Given the description of an element on the screen output the (x, y) to click on. 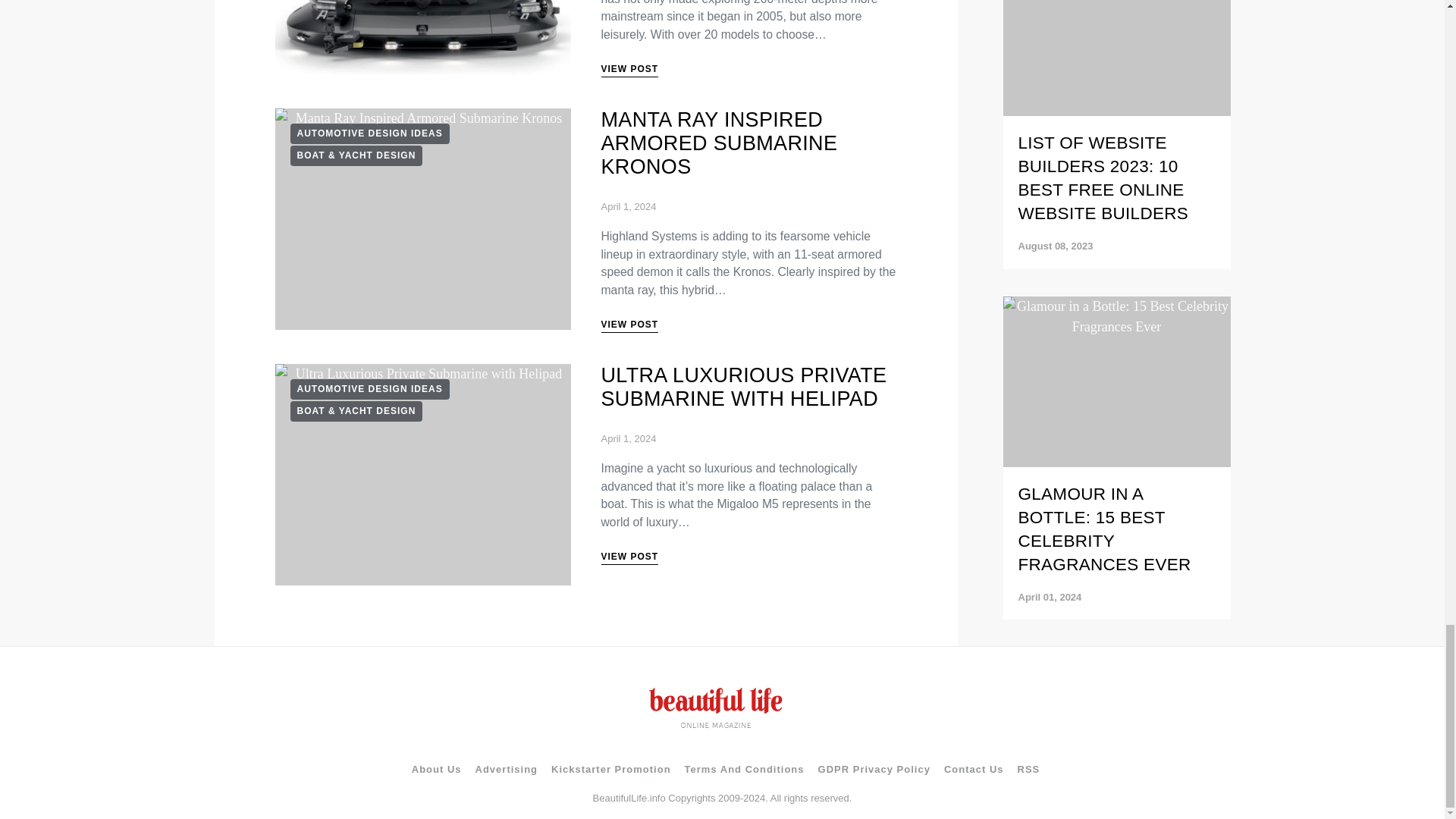
MANTA RAY INSPIRED ARMORED SUBMARINE KRONOS (718, 143)
AUTOMOTIVE DESIGN IDEAS (368, 133)
New 9-Person NEXUS Submersible by U-Boat Worx (422, 37)
VIEW POST (628, 69)
VIEW POST (628, 558)
Manta Ray Inspired Armored Submarine Kronos (422, 219)
AUTOMOTIVE DESIGN IDEAS (368, 389)
Ultra Luxurious Private Submarine with Helipad (422, 474)
VIEW POST (628, 325)
ULTRA LUXURIOUS PRIVATE SUBMARINE WITH HELIPAD (742, 386)
